Given the description of an element on the screen output the (x, y) to click on. 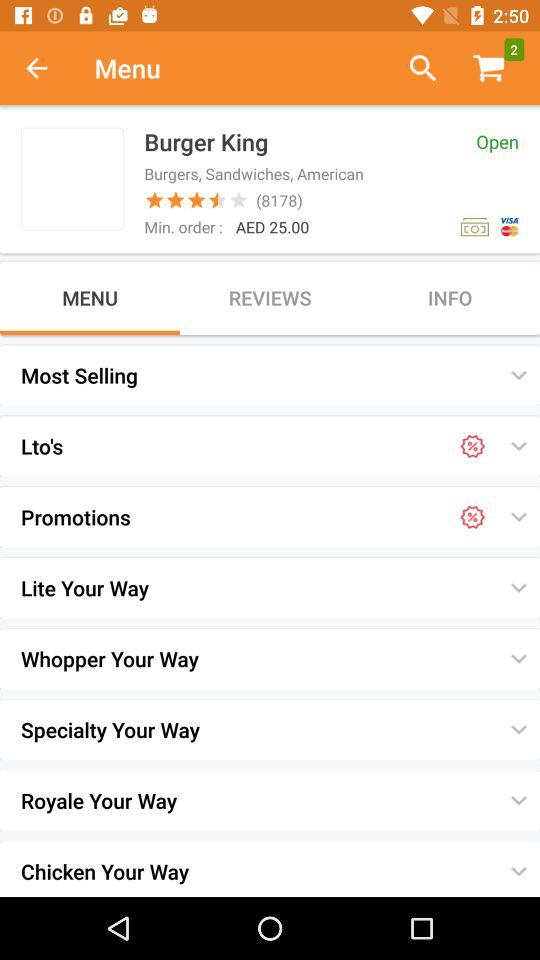
launch item to the left of menu icon (47, 68)
